Given the description of an element on the screen output the (x, y) to click on. 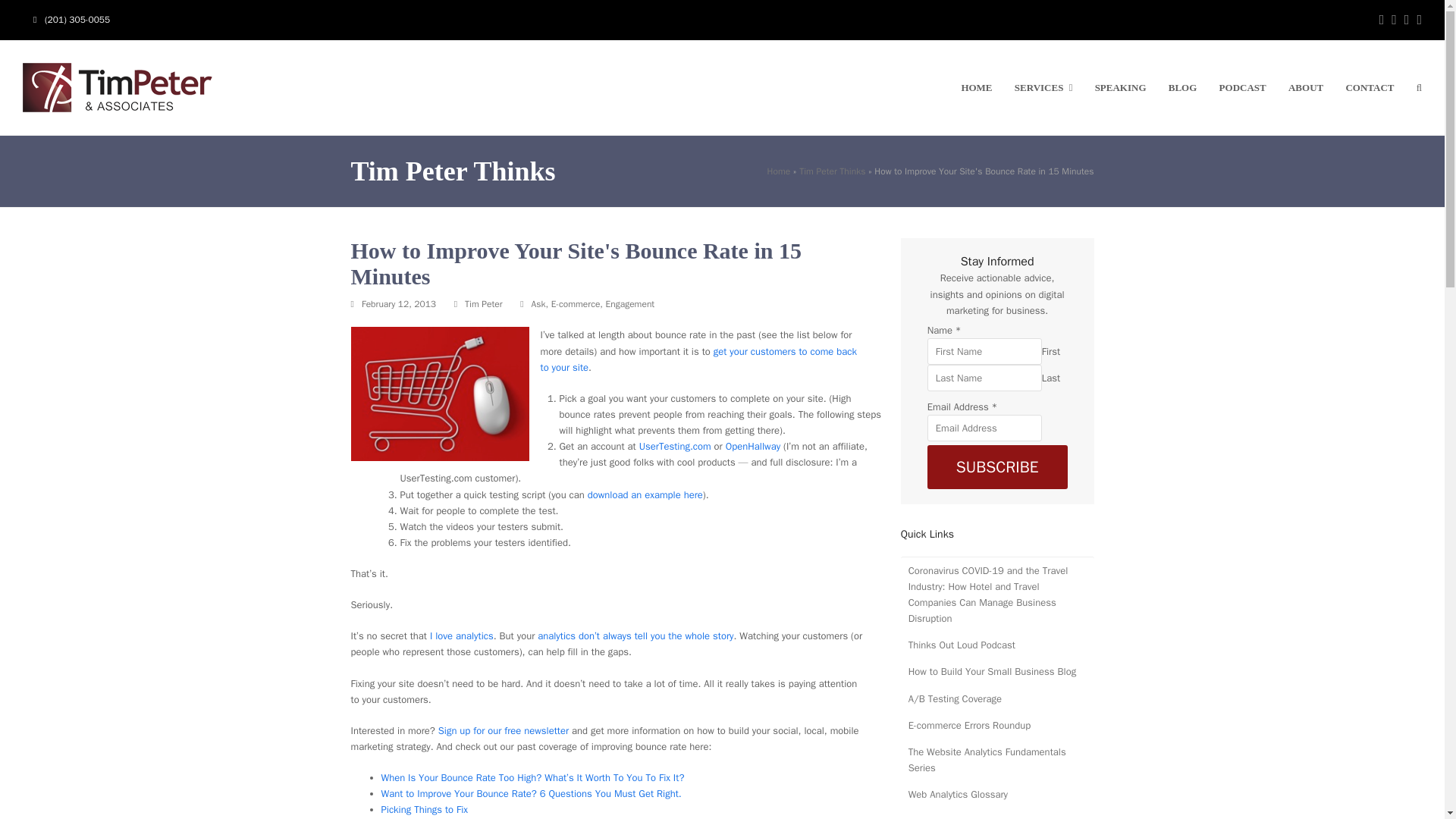
Ask (538, 304)
Home (778, 171)
Sign up for our free newsletter (503, 730)
CONTACT (1369, 87)
SPEAKING (1120, 87)
OpenHallway (752, 445)
Posts by Tim Peter (483, 304)
SERVICES (1043, 87)
Tim Peter Thinks (831, 171)
